Given the description of an element on the screen output the (x, y) to click on. 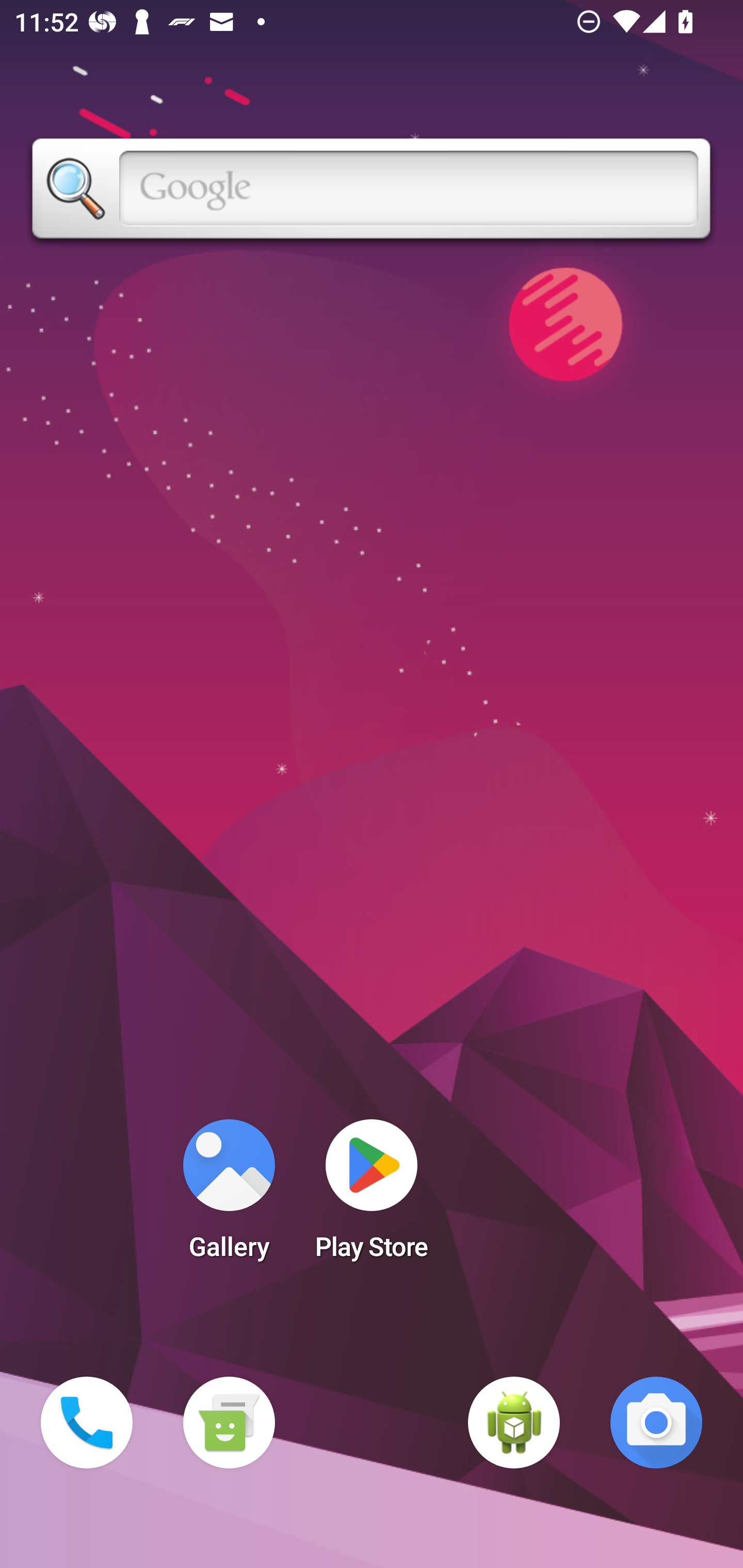
Gallery (228, 1195)
Play Store (371, 1195)
Phone (86, 1422)
Messaging (228, 1422)
WebView Browser Tester (513, 1422)
Camera (656, 1422)
